Given the description of an element on the screen output the (x, y) to click on. 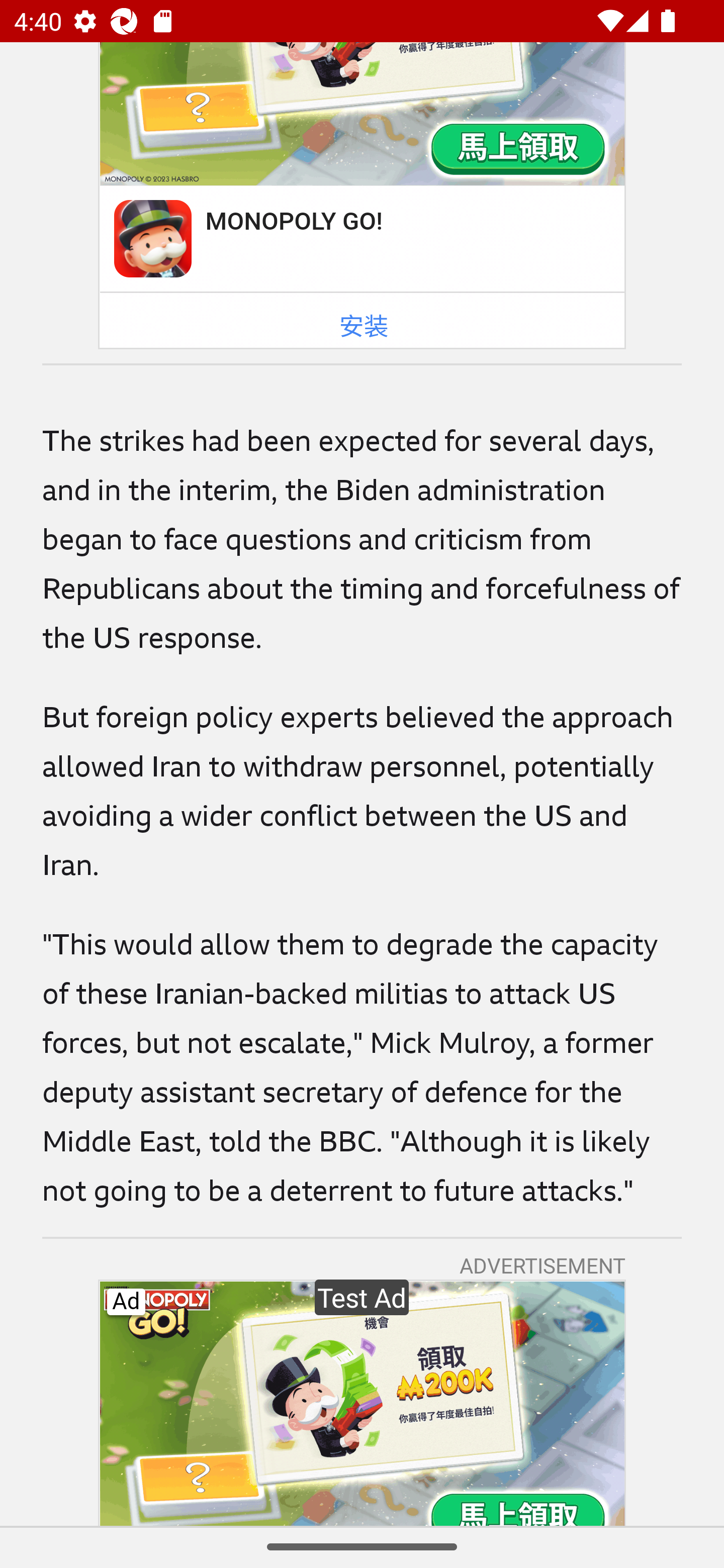
MONOPOLY GO! (292, 220)
安装 (363, 326)
